Given the description of an element on the screen output the (x, y) to click on. 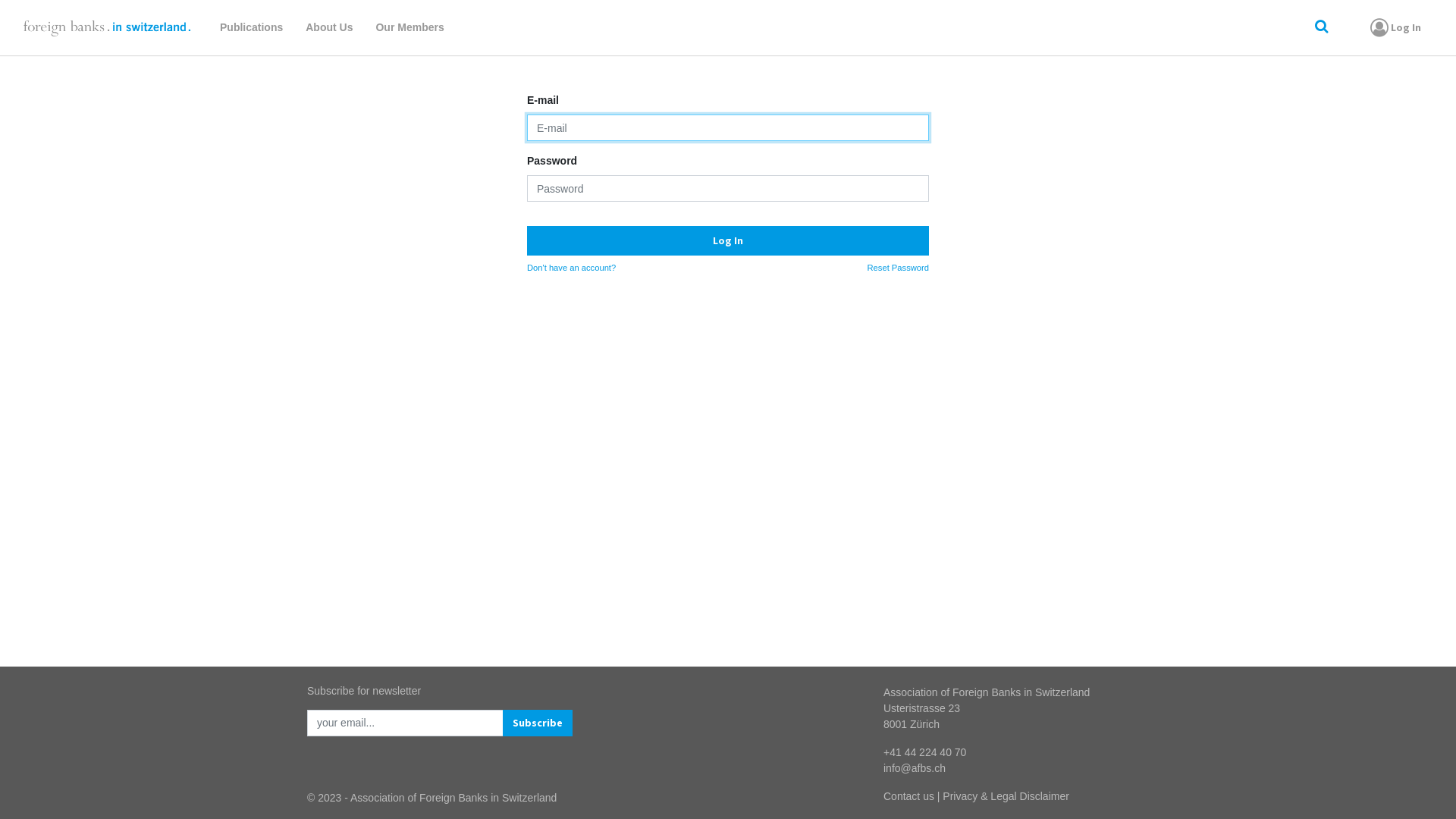
Contact us Element type: text (908, 796)
Privacy & Legal Disclaimer Element type: text (1005, 796)
Log In Element type: text (727, 240)
Subscribe Element type: text (537, 722)
Don't have an account? Element type: text (571, 267)
Log In Element type: text (1393, 27)
info@afbs.ch Element type: text (914, 768)
Reset Password Element type: text (897, 267)
